Given the description of an element on the screen output the (x, y) to click on. 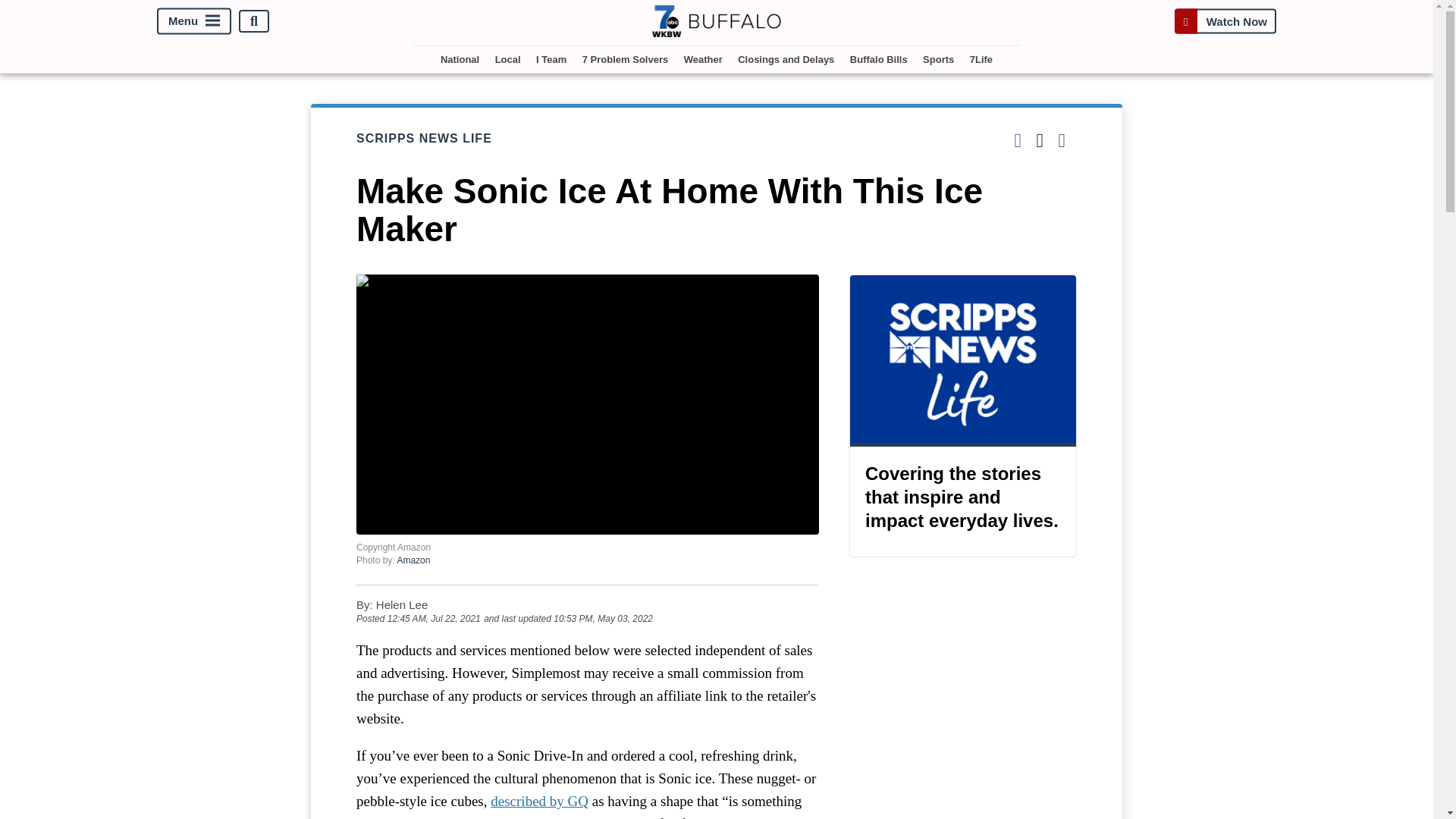
Menu (194, 21)
Watch Now (1224, 21)
